Given the description of an element on the screen output the (x, y) to click on. 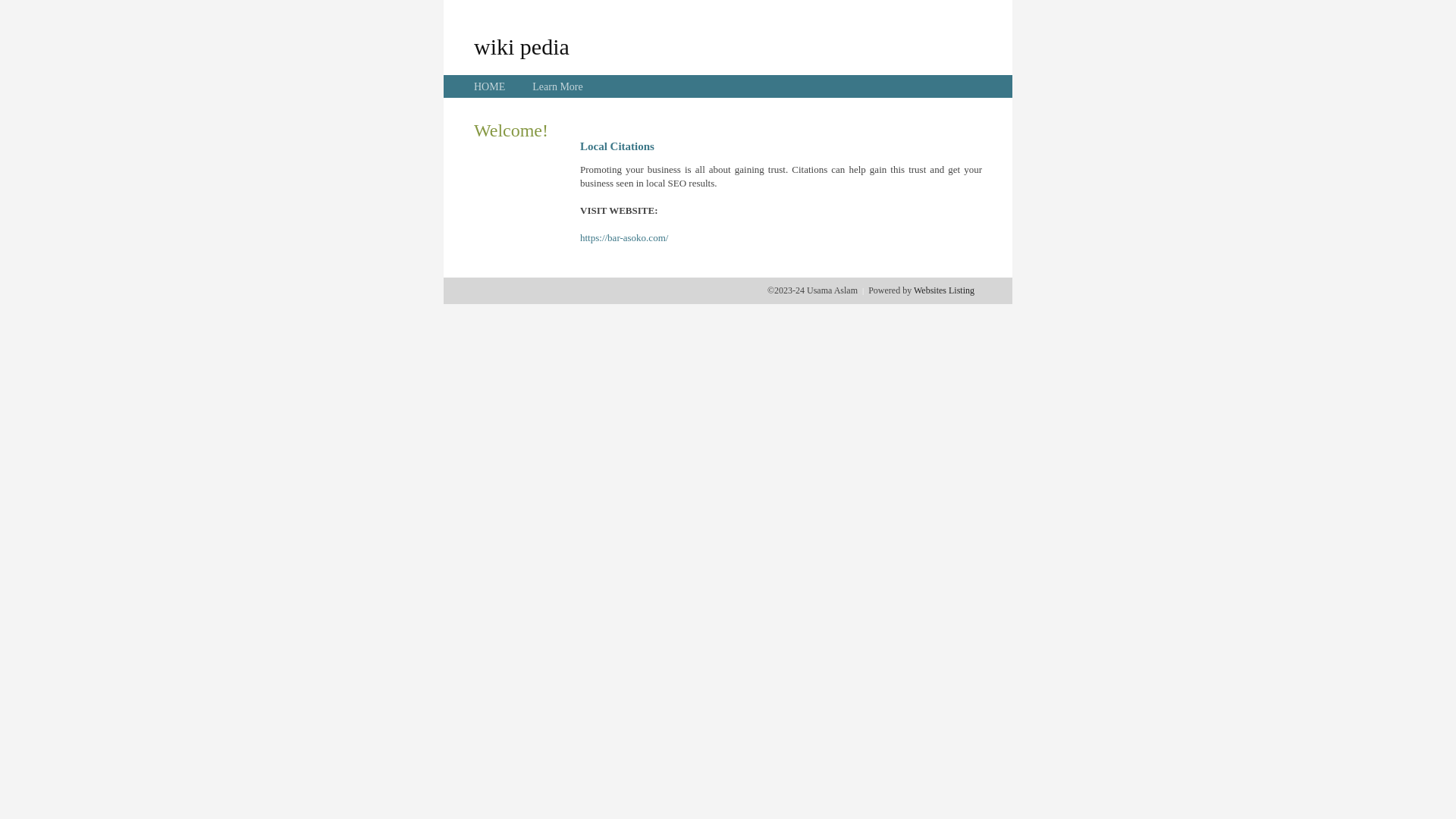
HOME Element type: text (489, 86)
Websites Listing Element type: text (943, 290)
Learn More Element type: text (557, 86)
wiki pedia Element type: text (521, 46)
https://bar-asoko.com/ Element type: text (624, 237)
